Given the description of an element on the screen output the (x, y) to click on. 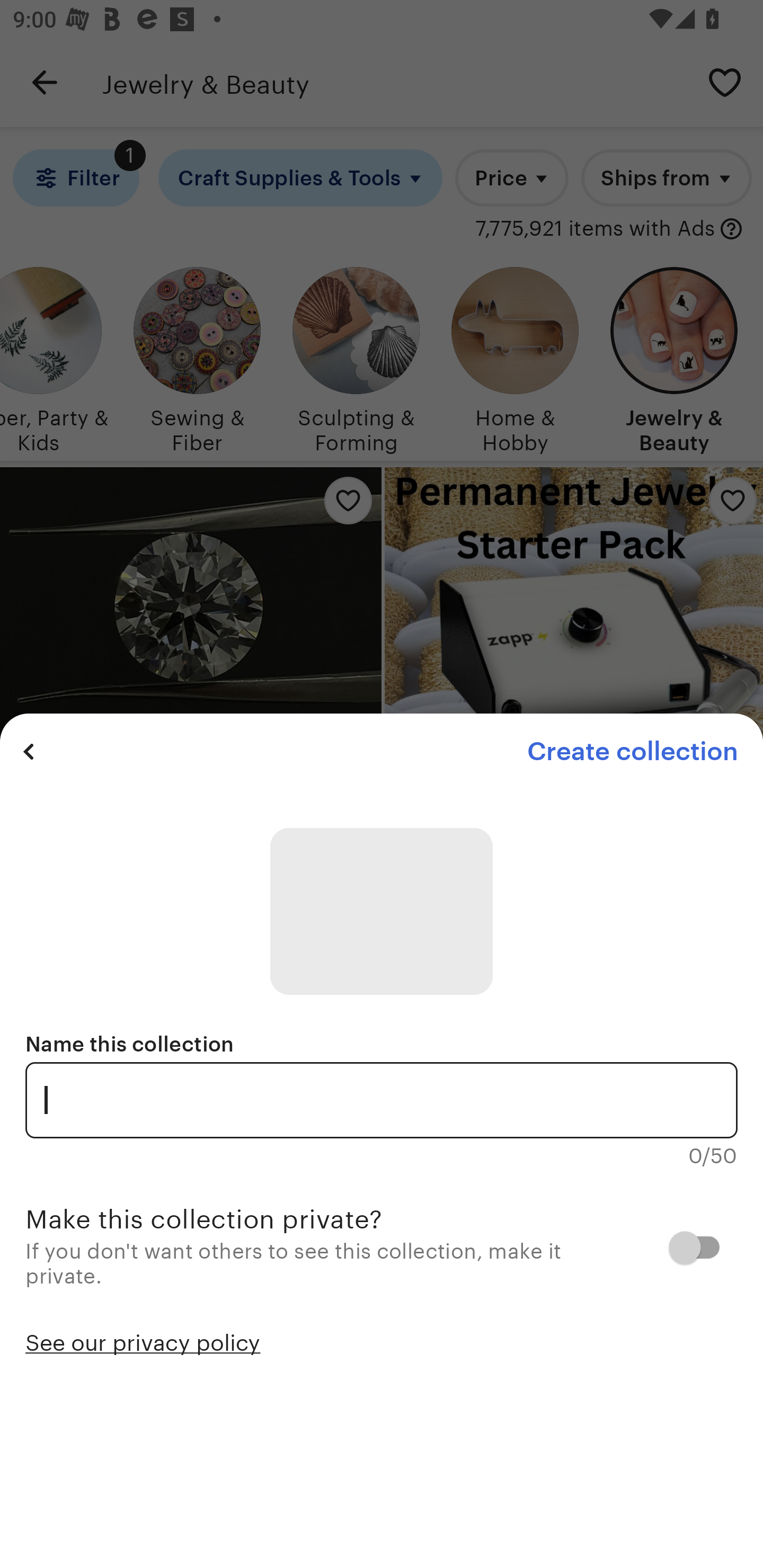
Previous (28, 751)
Create collection (632, 751)
See our privacy policy (142, 1341)
